Given the description of an element on the screen output the (x, y) to click on. 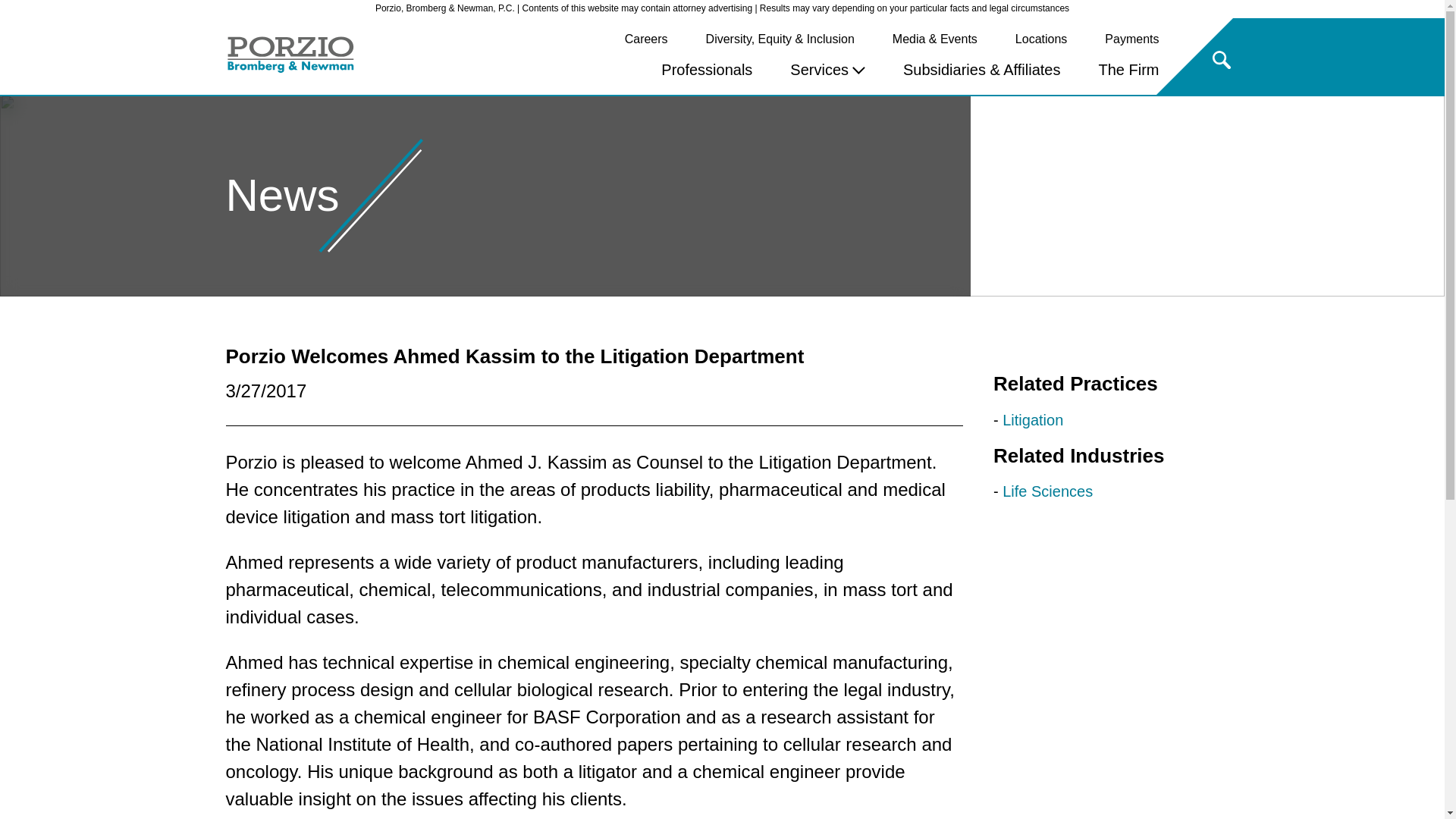
Share (1058, 353)
Print (1007, 353)
Open Site Search (1221, 62)
Payments (1131, 39)
Print (1007, 353)
The Firm (1128, 69)
Locations (1040, 39)
Share (1058, 353)
Professionals (706, 69)
Careers (646, 39)
